Given the description of an element on the screen output the (x, y) to click on. 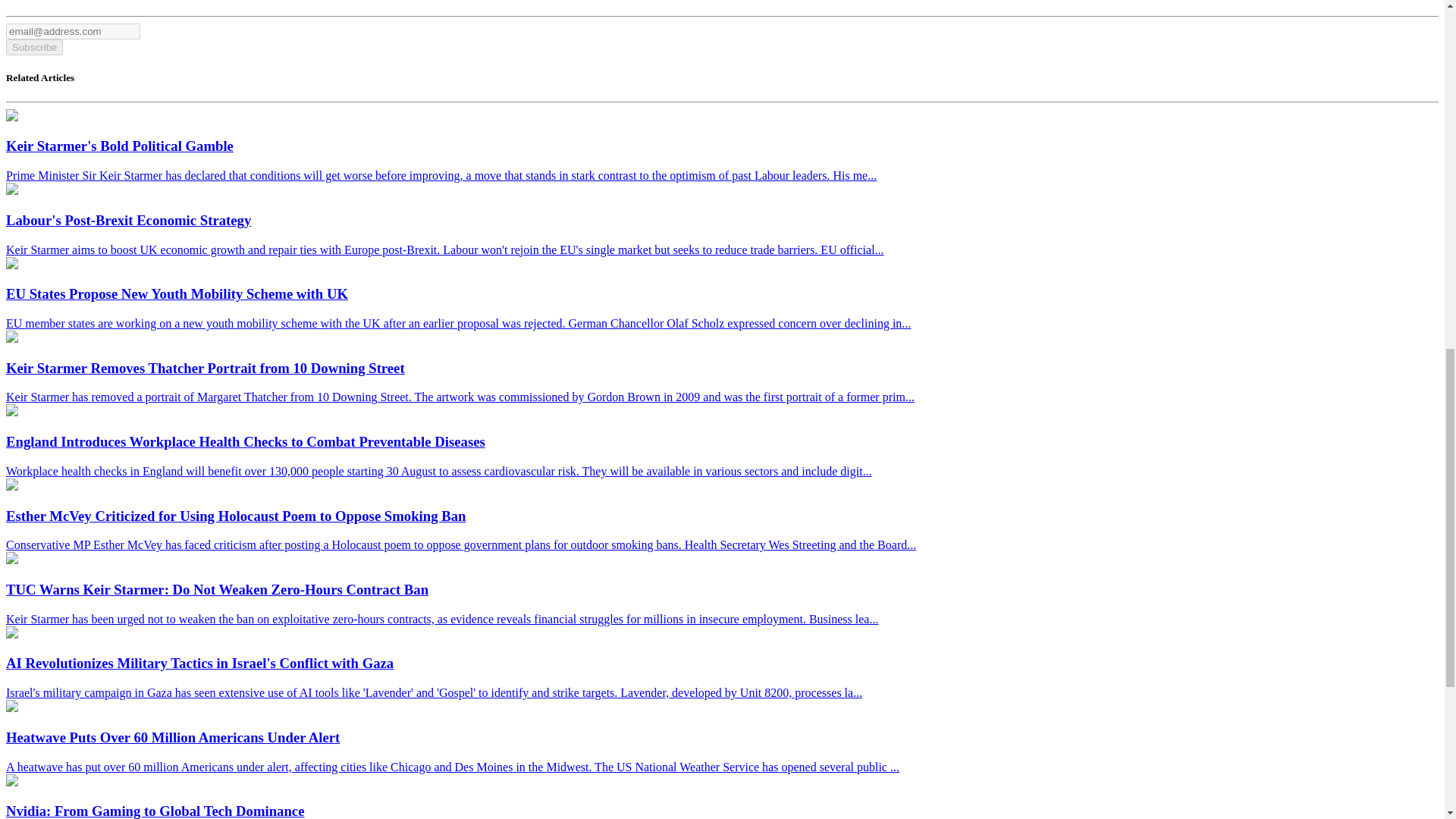
Nvidia: From Gaming to Global Tech Dominance (11, 781)
Heatwave Puts Over 60 Million Americans Under Alert (11, 707)
Labour's Post-Brexit Economic Strategy (11, 190)
Subscribe (33, 47)
Keir Starmer's Bold Political Gamble (11, 116)
